Given the description of an element on the screen output the (x, y) to click on. 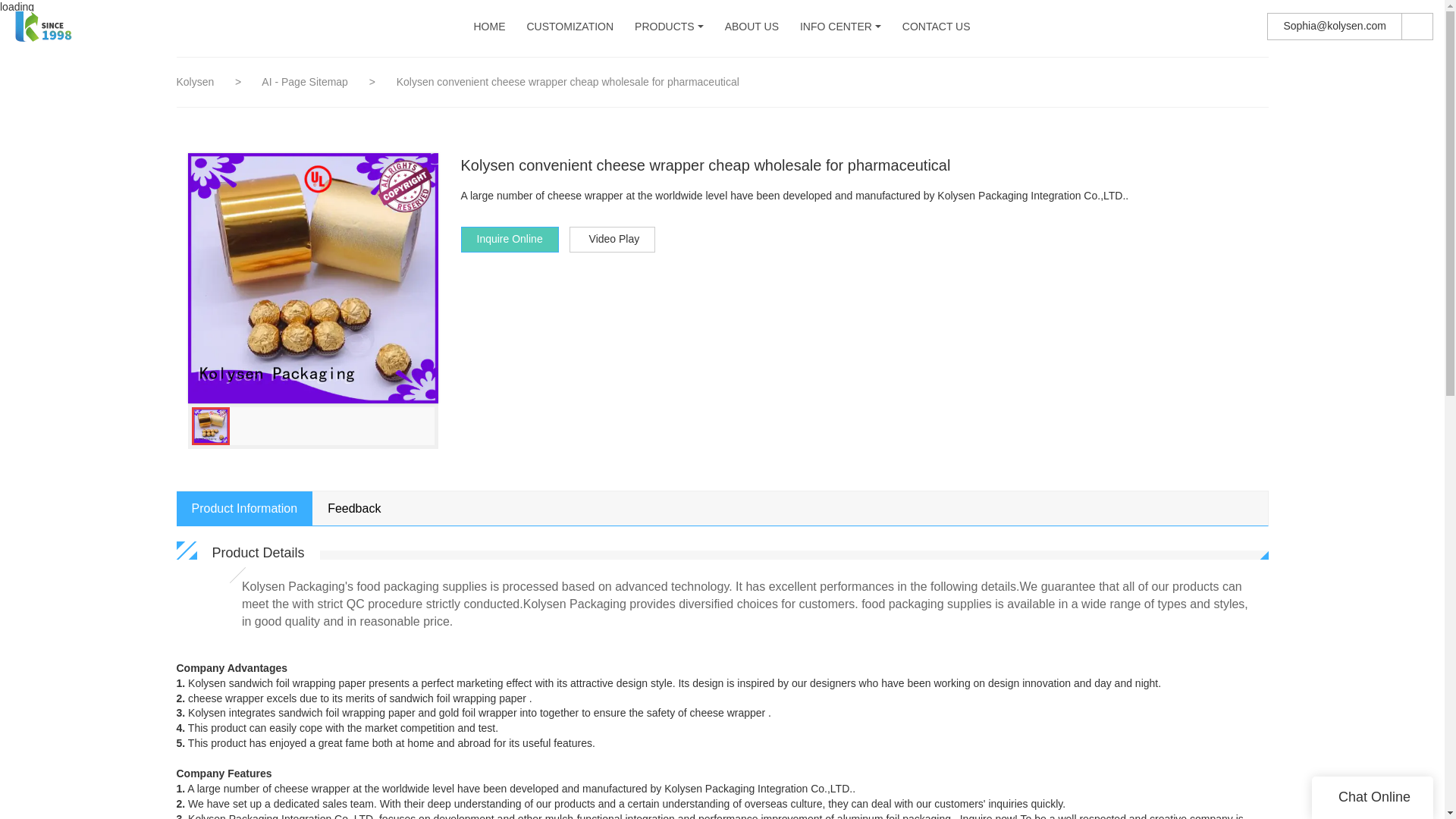
Inquire Online (510, 239)
PRODUCTS (664, 26)
Video Play (612, 239)
CUSTOMIZATION (568, 26)
HOME (489, 26)
ABOUT US (751, 26)
AI - Page Sitemap (306, 81)
Kolysen (195, 81)
CONTACT US (936, 26)
INFO CENTER (835, 26)
